Given the description of an element on the screen output the (x, y) to click on. 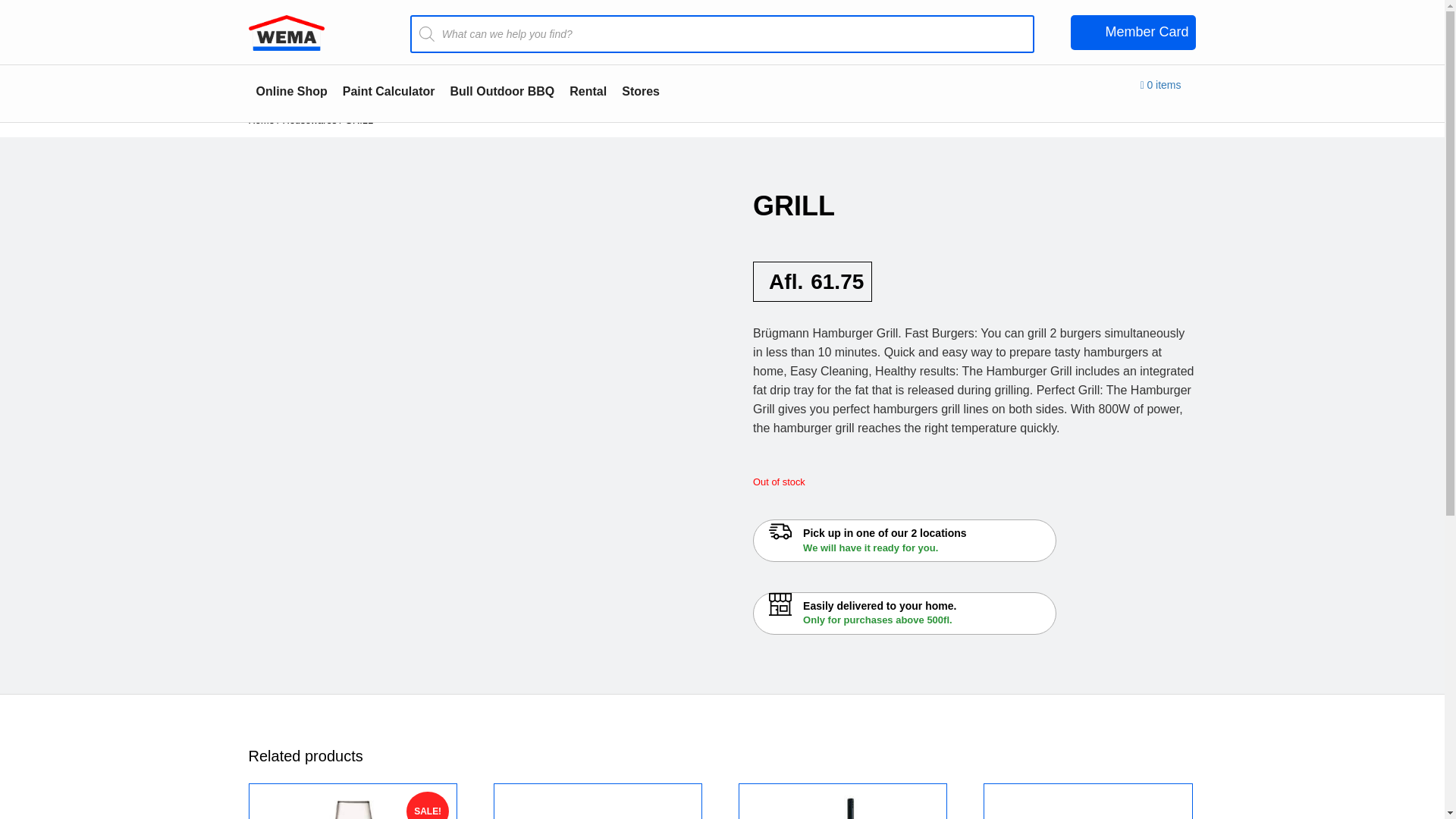
Housewares (309, 120)
Bull Outdoor BBQ (502, 91)
Stores (640, 91)
Start shopping (1160, 85)
0 items (1160, 85)
Home (352, 807)
Paint Calculator (261, 120)
